Given the description of an element on the screen output the (x, y) to click on. 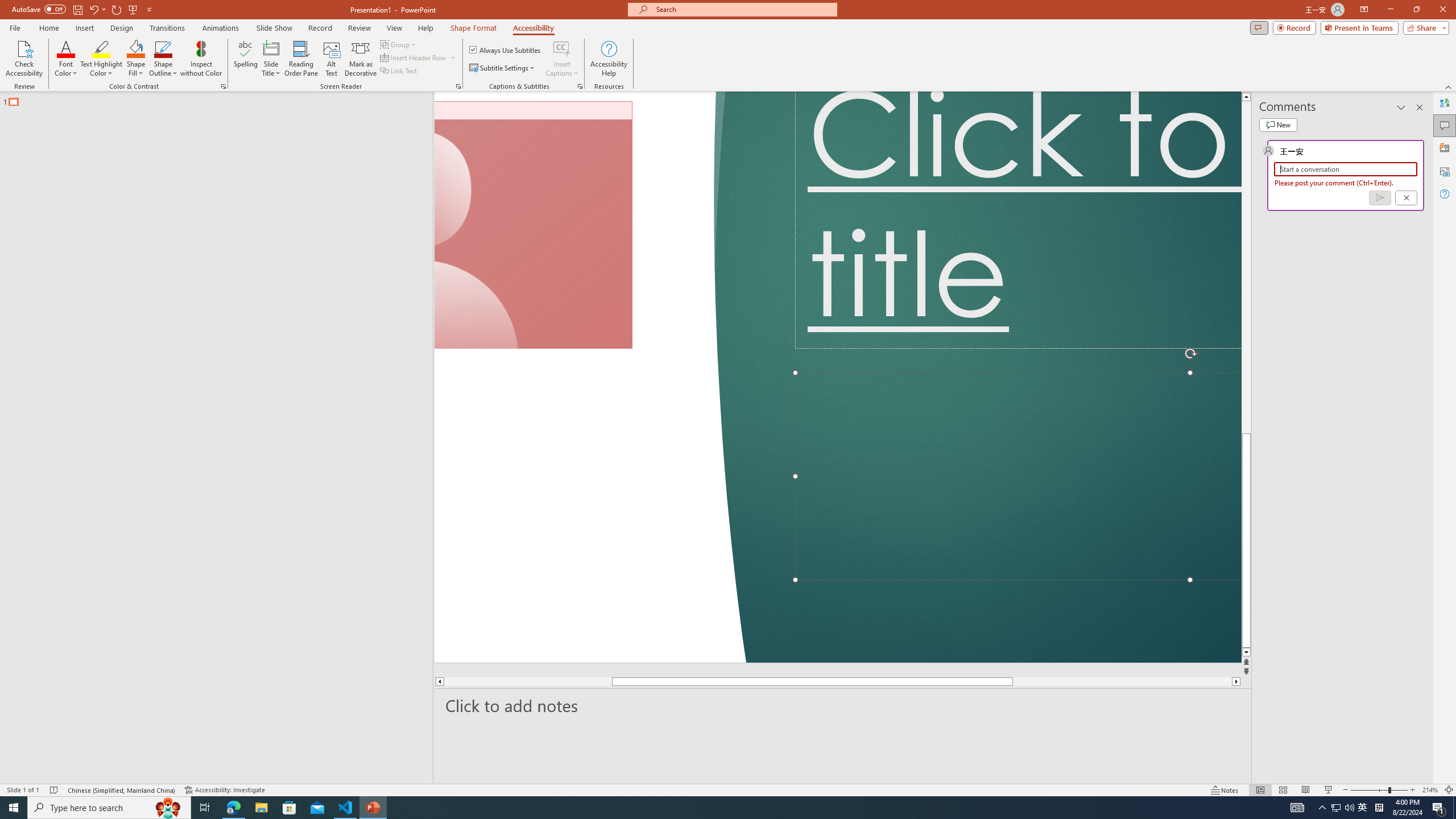
Design (281, 47)
More Options (1101, 72)
Undo Typing (159, 18)
Review (572, 47)
Page 1 content (578, 469)
Undo Typing (165, 18)
Layout (331, 47)
Text Effects and Typography (252, 102)
Paste (34, 77)
